Given the description of an element on the screen output the (x, y) to click on. 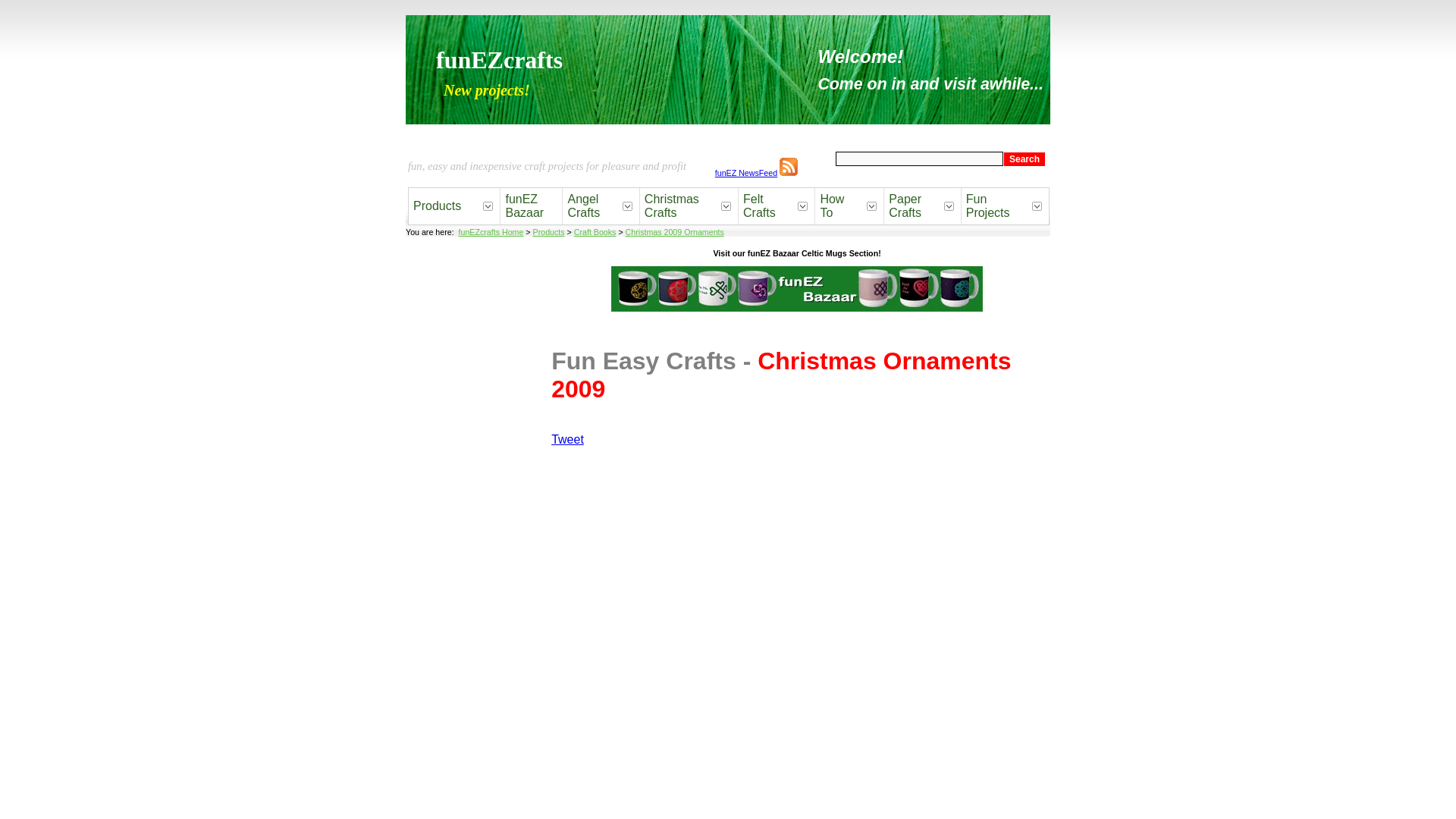
Paper Crafts (911, 206)
Christmas Crafts (678, 206)
funEZ Bazaar (531, 206)
funEZ Bazaar Celtic Mugs (796, 289)
Angel Crafts (589, 206)
Tweet (567, 439)
Search (1024, 158)
Fun Projects (994, 206)
Products (548, 231)
Craft Books (594, 231)
